Given the description of an element on the screen output the (x, y) to click on. 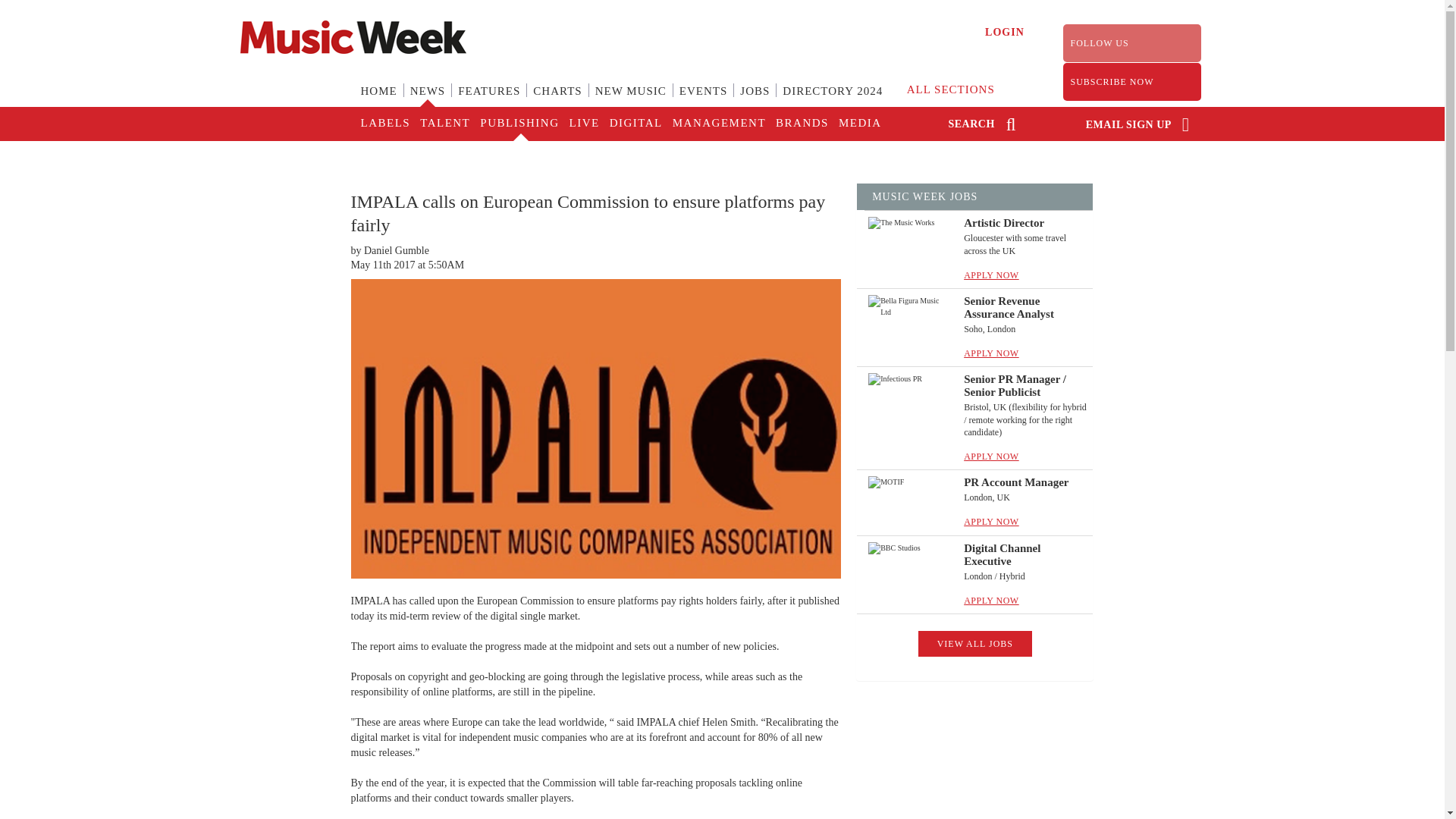
PUBLISHING (518, 123)
BRANDS (801, 123)
MEDIA (858, 123)
DIGITAL (635, 123)
EVENTS (702, 100)
TALENT (443, 123)
FEATURES (488, 100)
NEWS (427, 100)
MANAGEMENT (718, 123)
LABELS (384, 123)
